Given the description of an element on the screen output the (x, y) to click on. 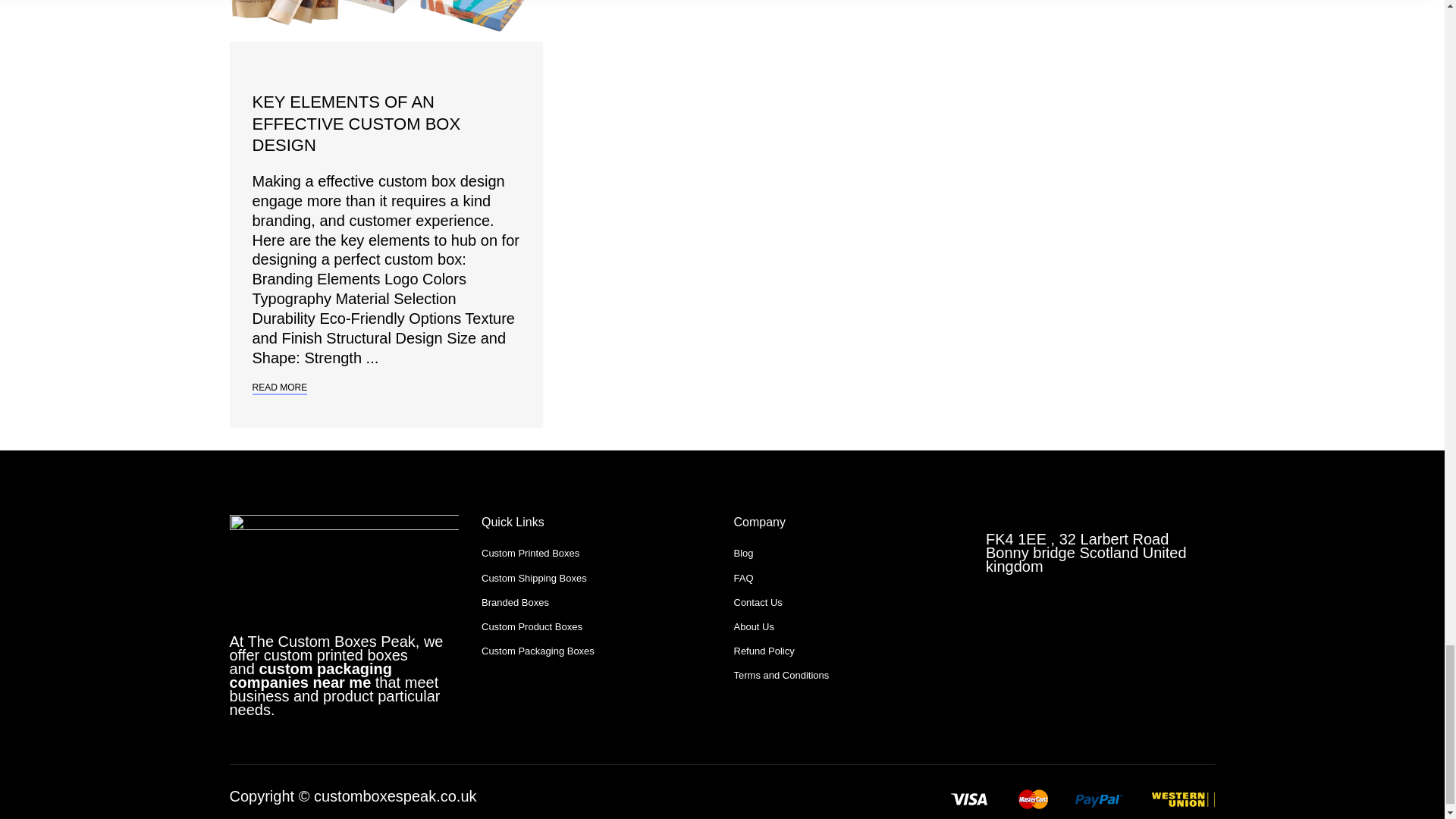
Key Elements of an Effective Custom Box Design (384, 20)
Key Elements of an Effective Custom Box Design (355, 123)
